Given the description of an element on the screen output the (x, y) to click on. 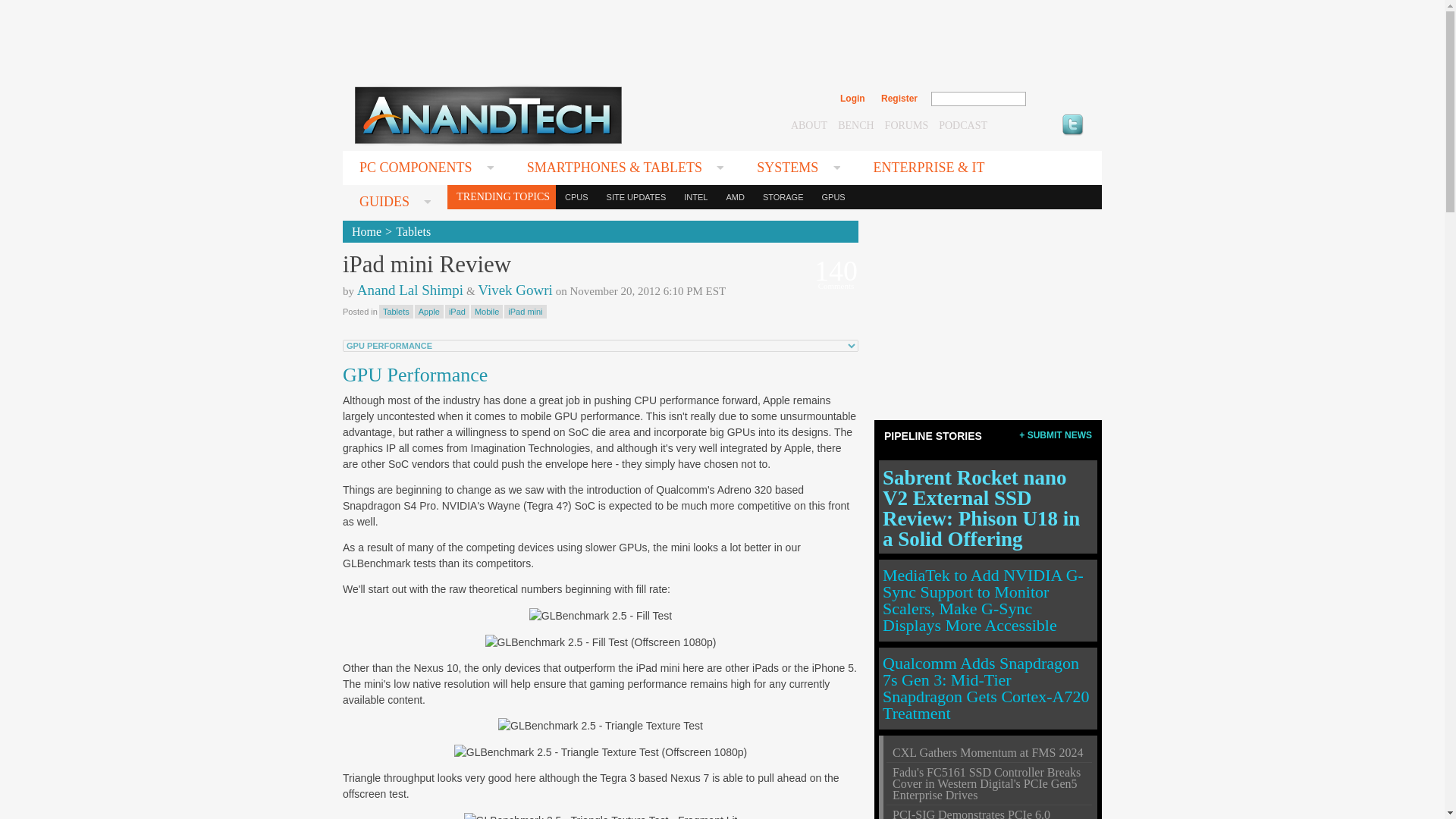
PODCAST (963, 125)
search (1059, 98)
Login (852, 98)
Register (898, 98)
BENCH (855, 125)
FORUMS (906, 125)
search (1059, 98)
ABOUT (808, 125)
search (1059, 98)
